Given the description of an element on the screen output the (x, y) to click on. 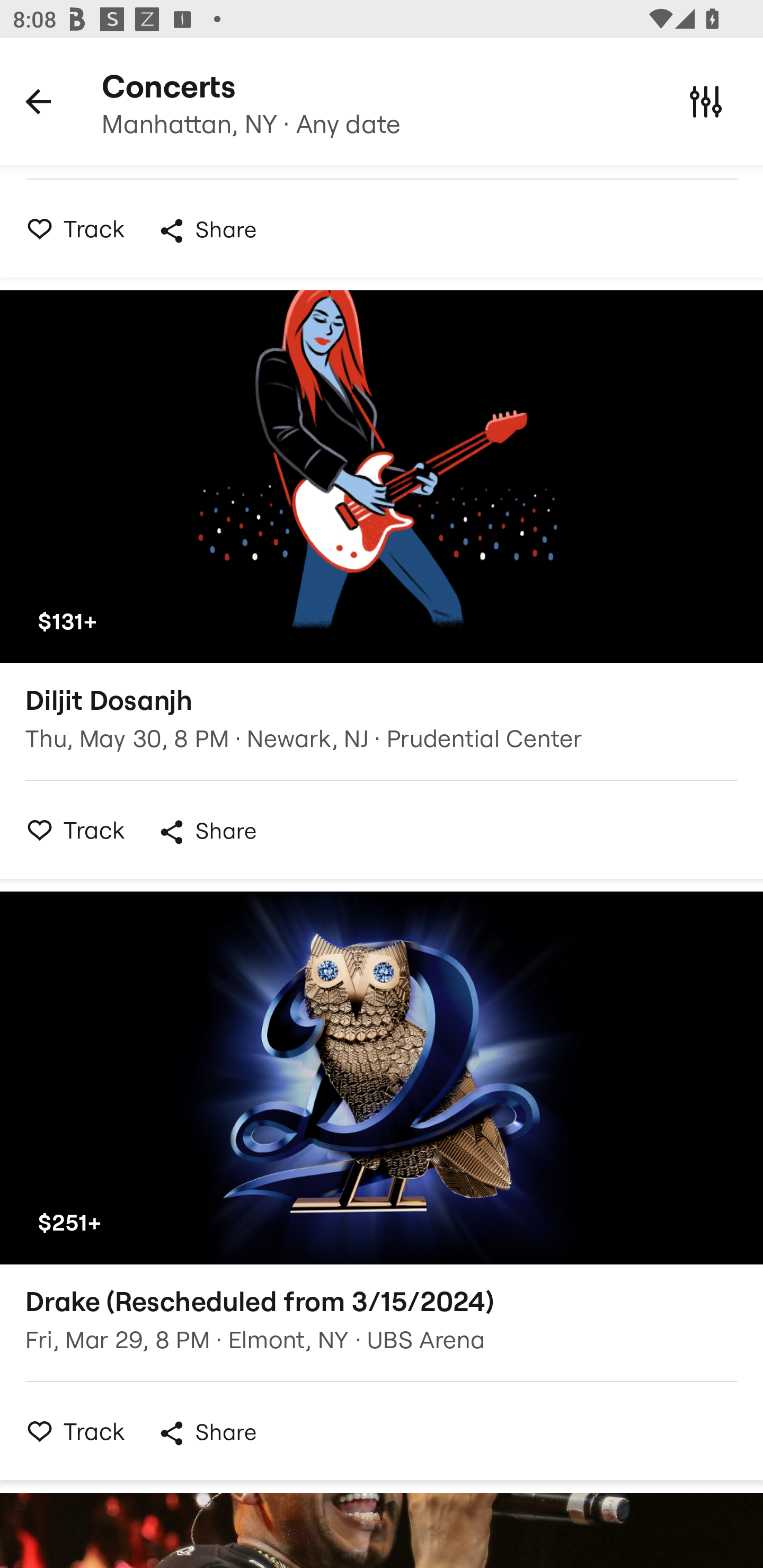
Back (38, 100)
Filters (705, 100)
Track (70, 228)
Share (207, 231)
Track (70, 829)
Share (207, 831)
Track (70, 1430)
Share (207, 1433)
